Given the description of an element on the screen output the (x, y) to click on. 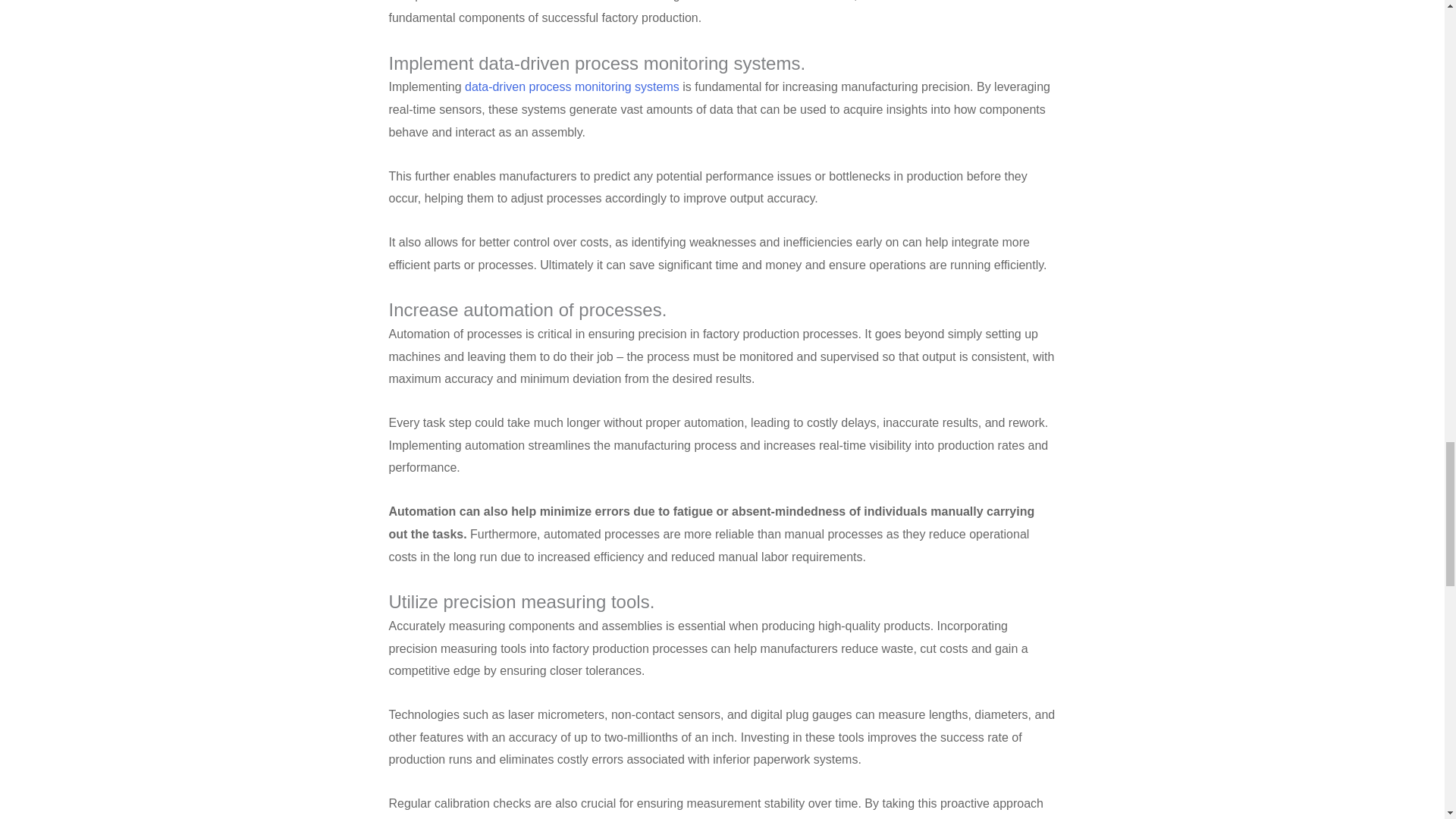
data-driven process monitoring systems (571, 86)
